Given the description of an element on the screen output the (x, y) to click on. 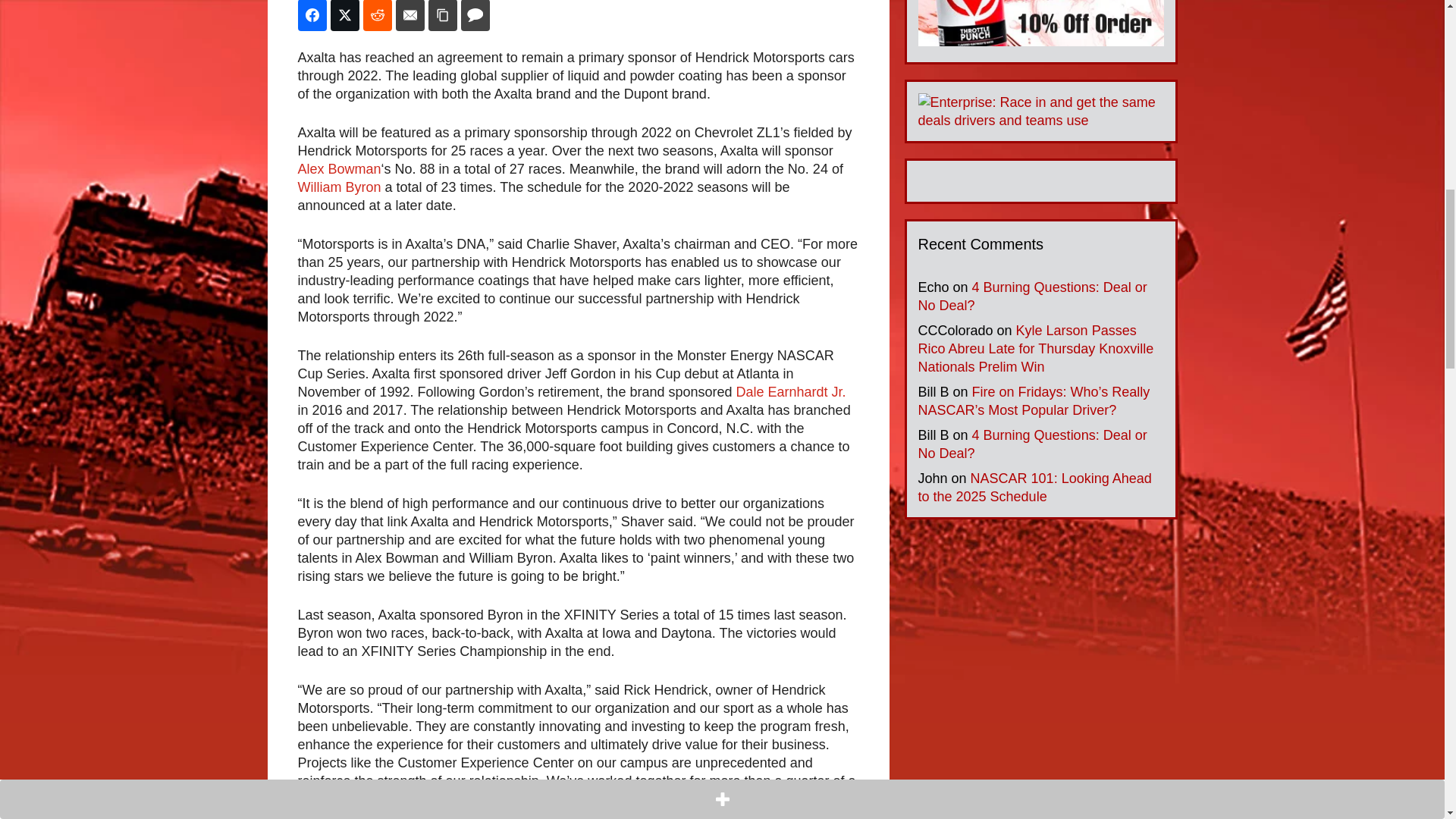
Dale Earnhardt Jr. (790, 391)
Share on Comments (475, 15)
William Byron (338, 186)
Share on Copy Link (442, 15)
Share on Twitter (344, 15)
Share on Reddit (376, 15)
Alex Bowman (338, 168)
Share on Email (410, 15)
Share on Facebook (311, 15)
